Given the description of an element on the screen output the (x, y) to click on. 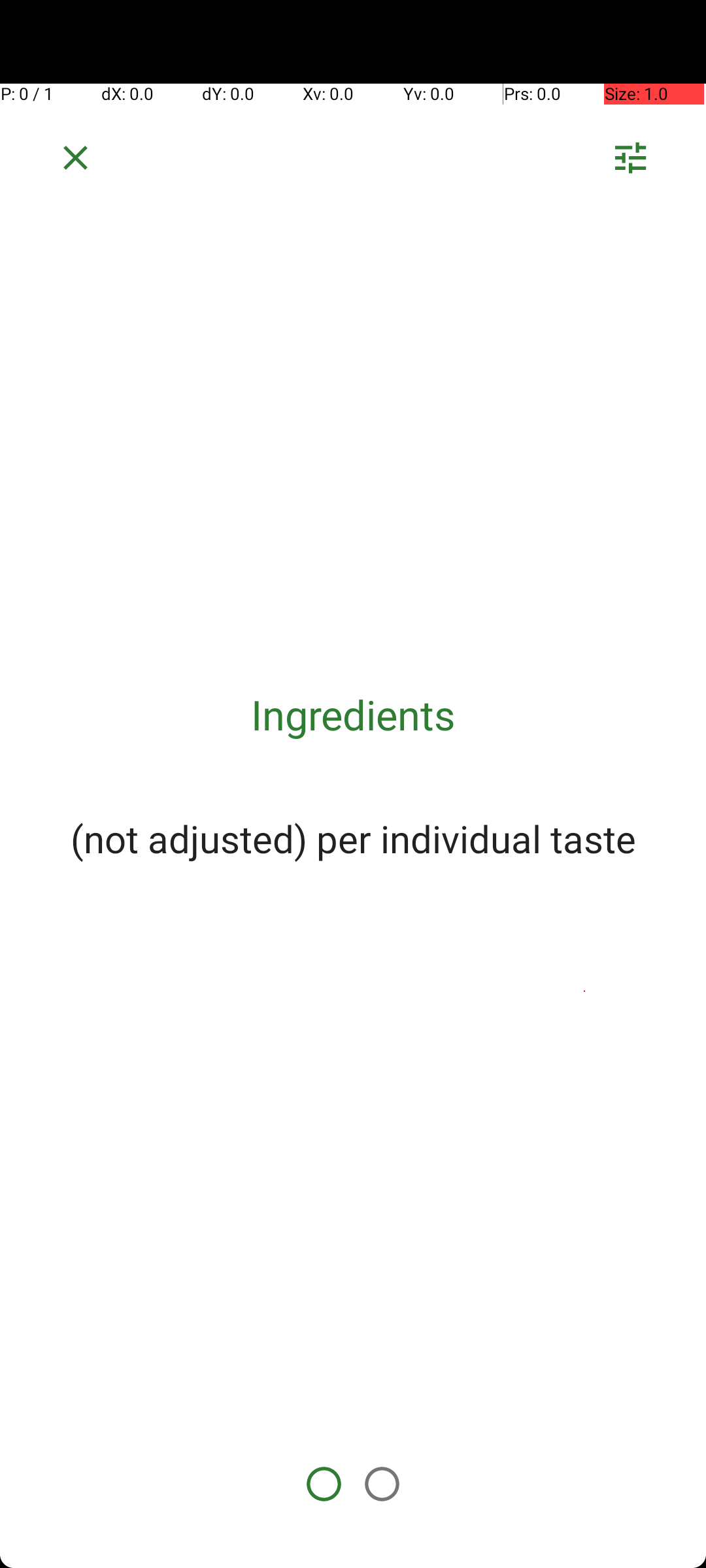
(not adjusted) per individual taste Element type: android.widget.TextView (353, 838)
